Given the description of an element on the screen output the (x, y) to click on. 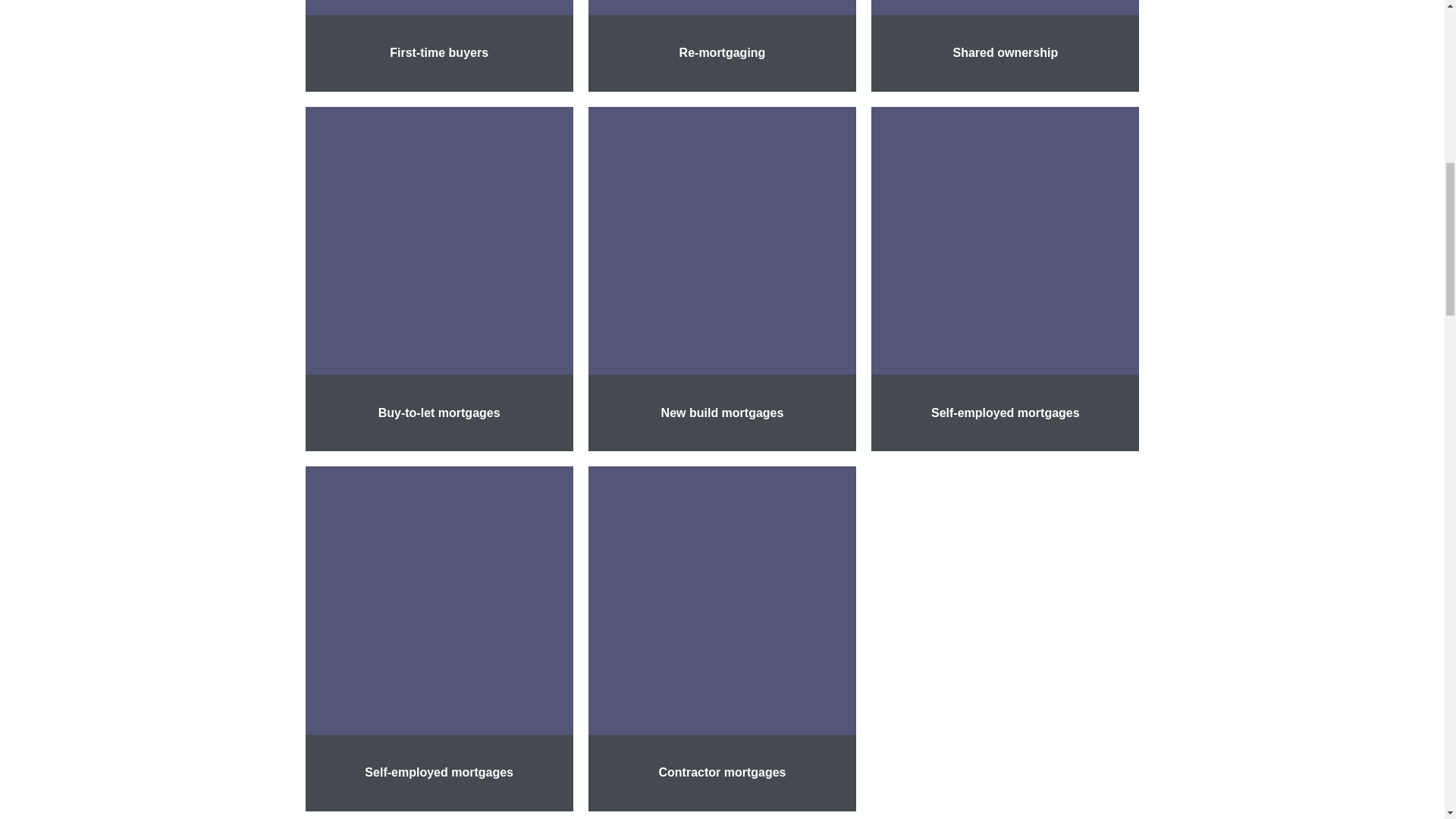
First-time buyers (438, 51)
Re-mortgaging (722, 51)
